Given the description of an element on the screen output the (x, y) to click on. 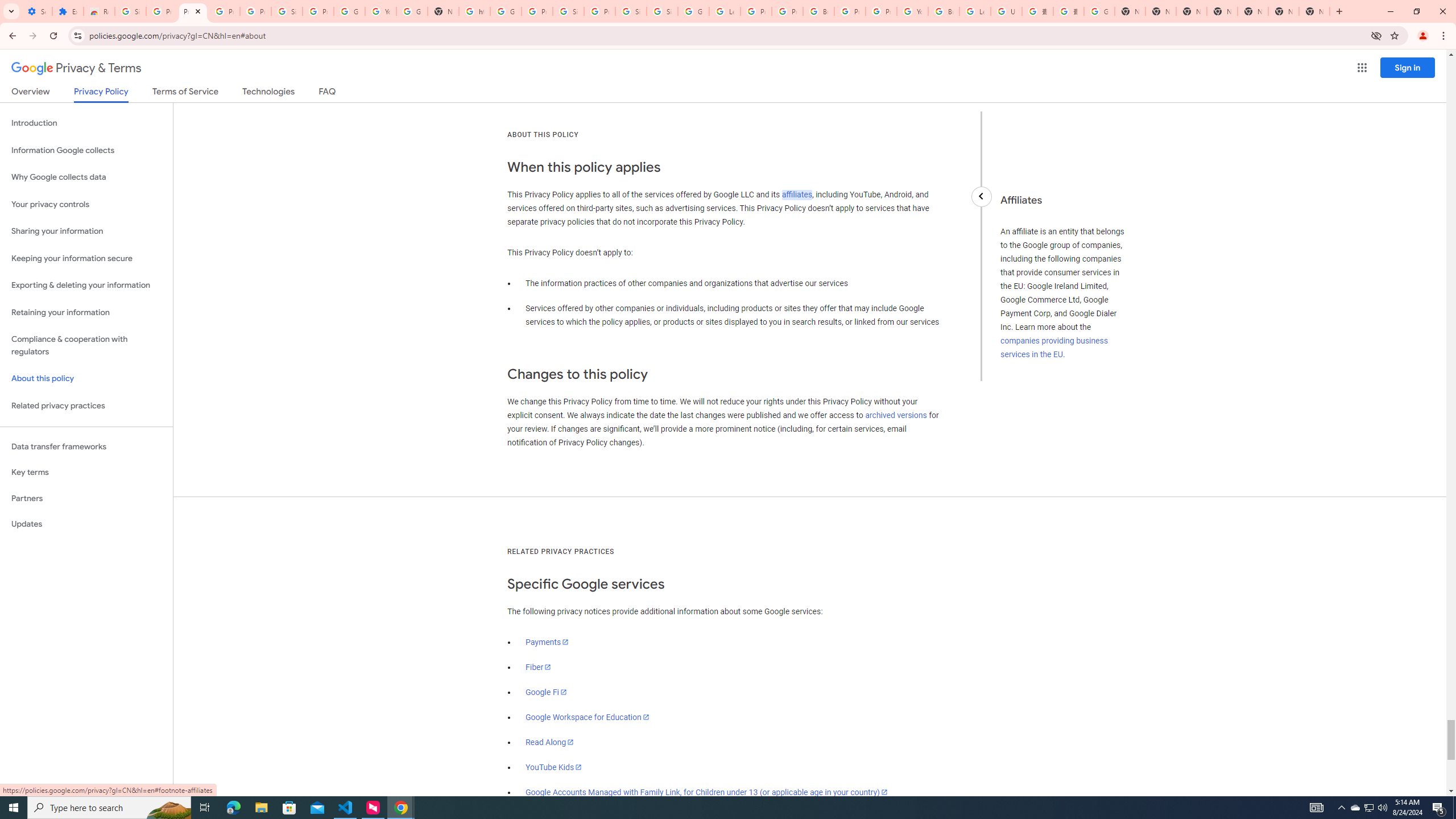
Why Google collects data (86, 176)
Payments (547, 642)
Partners (86, 497)
Privacy Help Center - Policies Help (787, 11)
Google Fi (545, 691)
Extensions (67, 11)
